Given the description of an element on the screen output the (x, y) to click on. 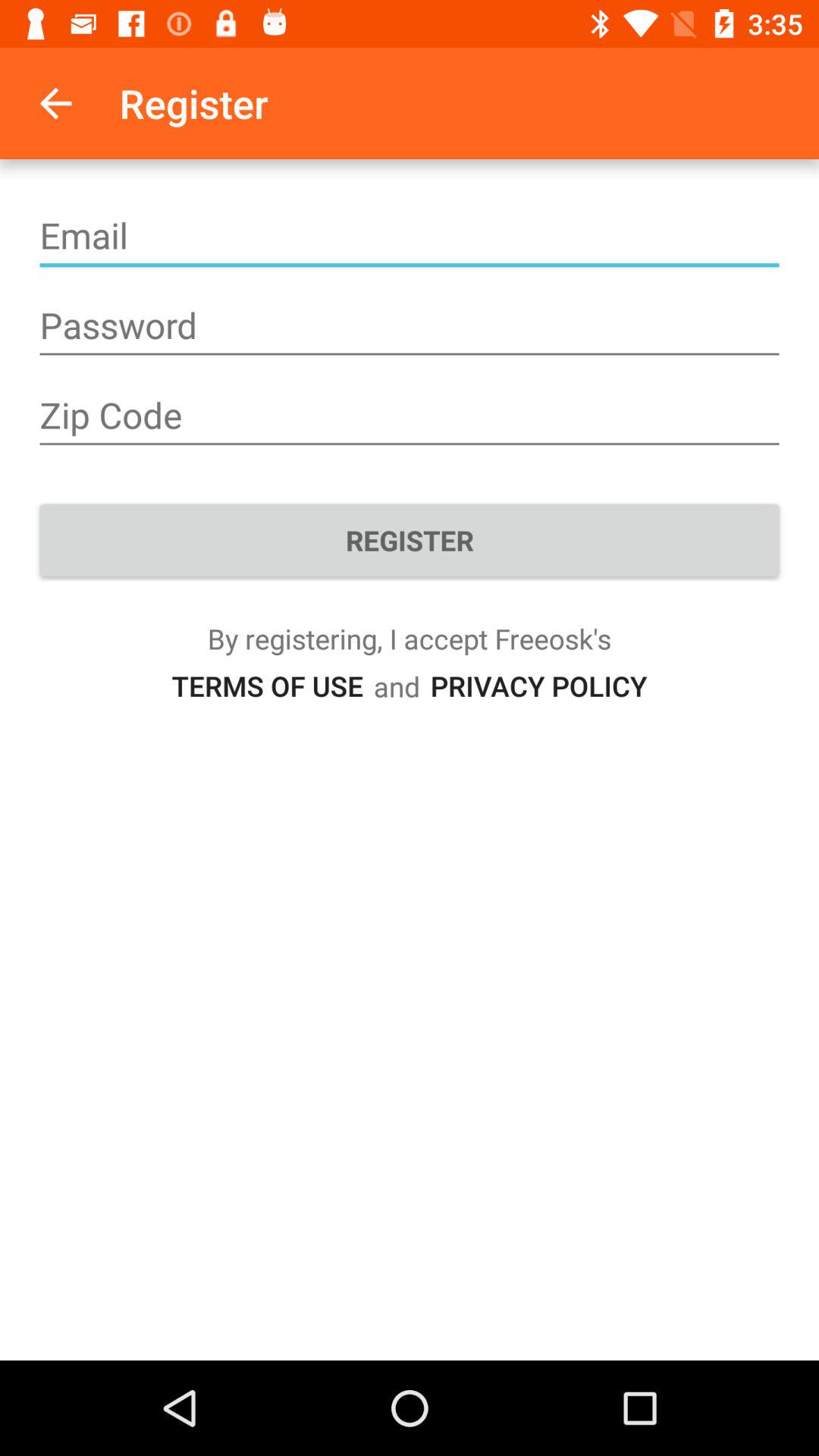
tap the privacy policy (538, 685)
